Given the description of an element on the screen output the (x, y) to click on. 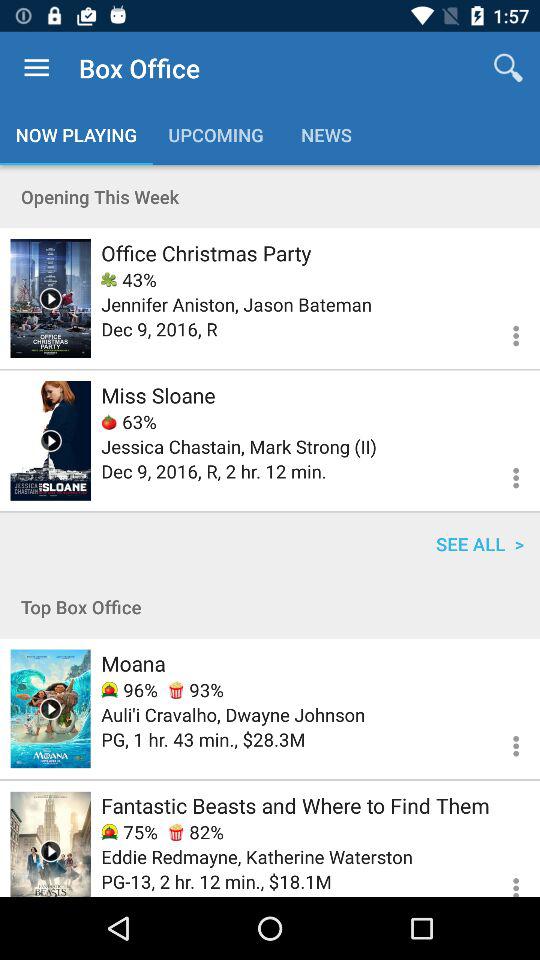
watch the trailer (50, 844)
